Given the description of an element on the screen output the (x, y) to click on. 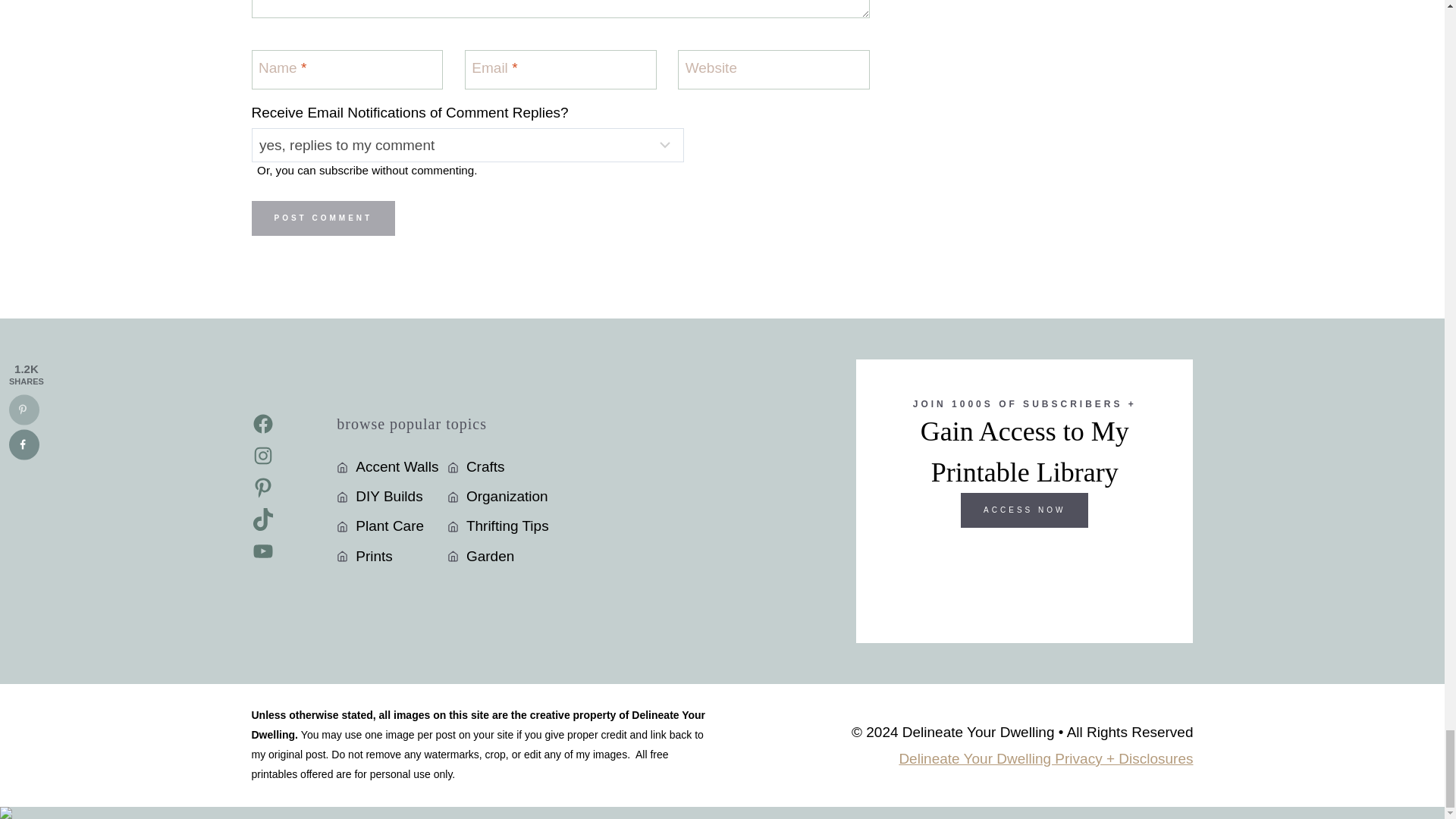
Post Comment (323, 217)
